Given the description of an element on the screen output the (x, y) to click on. 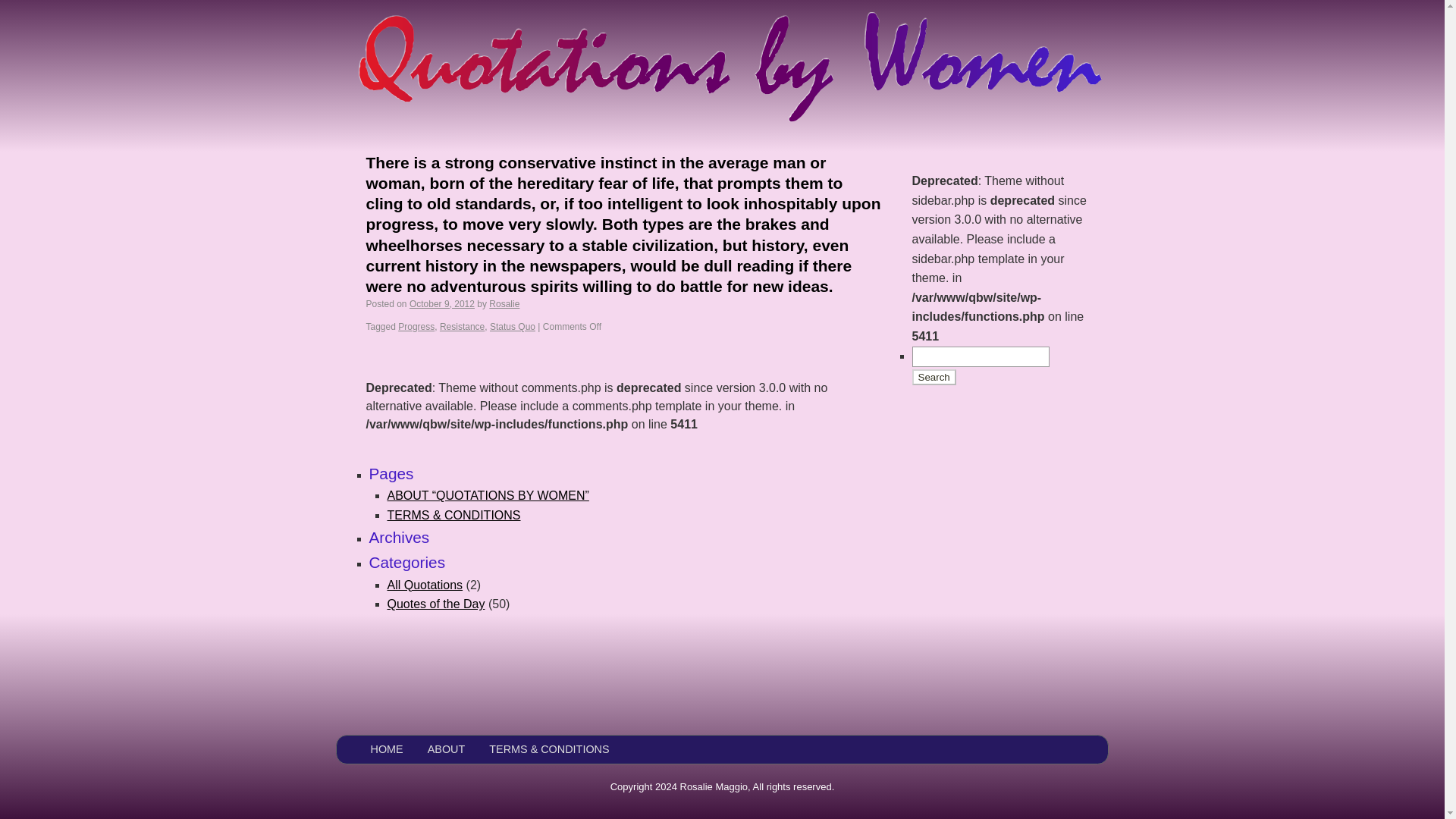
4:45 pm (441, 303)
Progress (415, 326)
Status Quo (512, 326)
HOME (386, 748)
ABOUT (446, 748)
Search (933, 376)
Quotes of the Day (435, 603)
Resistance (461, 326)
October 9, 2012 (441, 303)
